Given the description of an element on the screen output the (x, y) to click on. 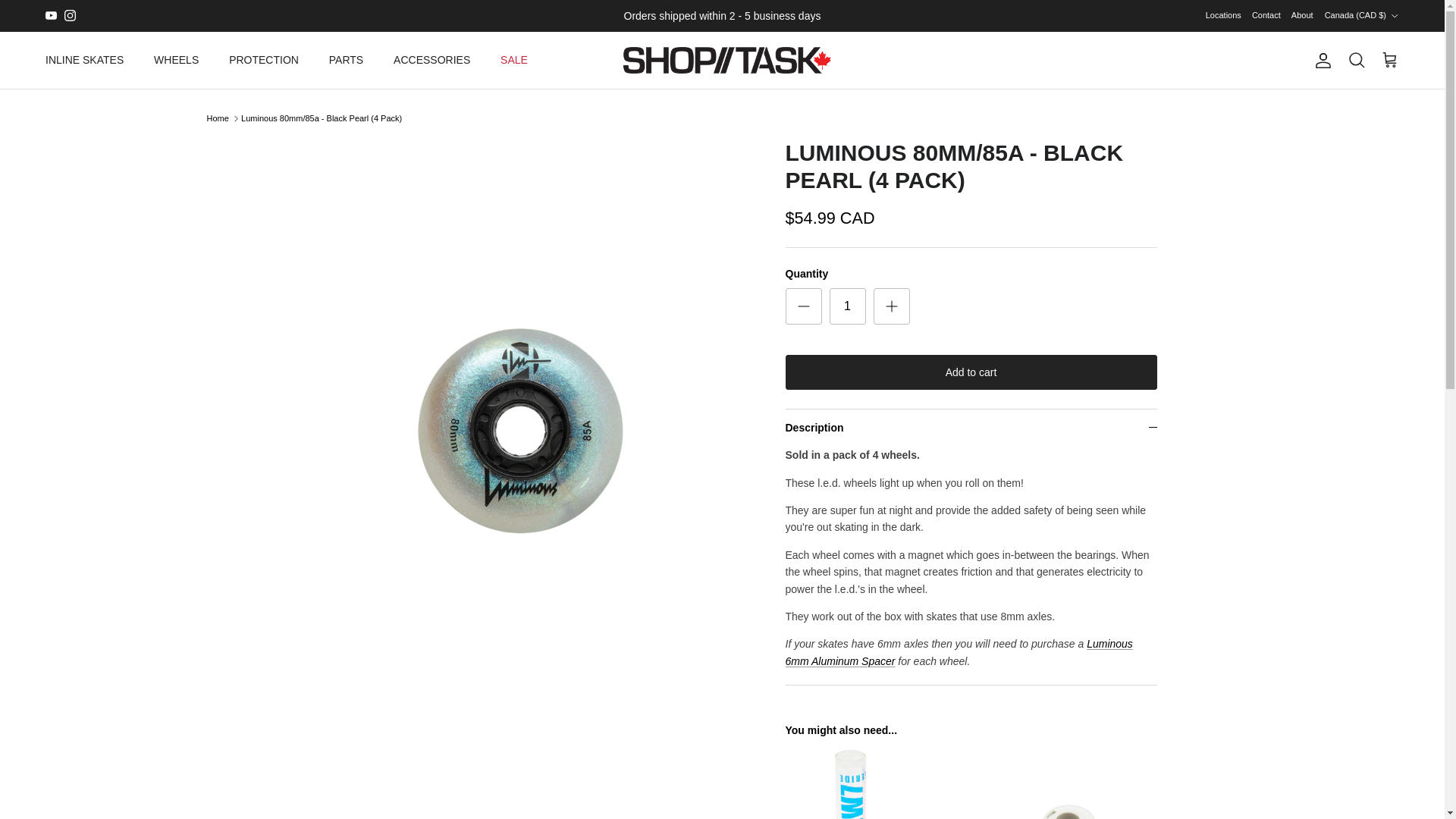
Cart (1389, 60)
SHOP TASK (721, 59)
YouTube (50, 15)
SHOP TASK on Instagram (69, 15)
Search (1356, 60)
Instagram (69, 15)
ACCESSORIES (431, 60)
Account (1319, 60)
PARTS (346, 60)
Locations (1223, 15)
